Given the description of an element on the screen output the (x, y) to click on. 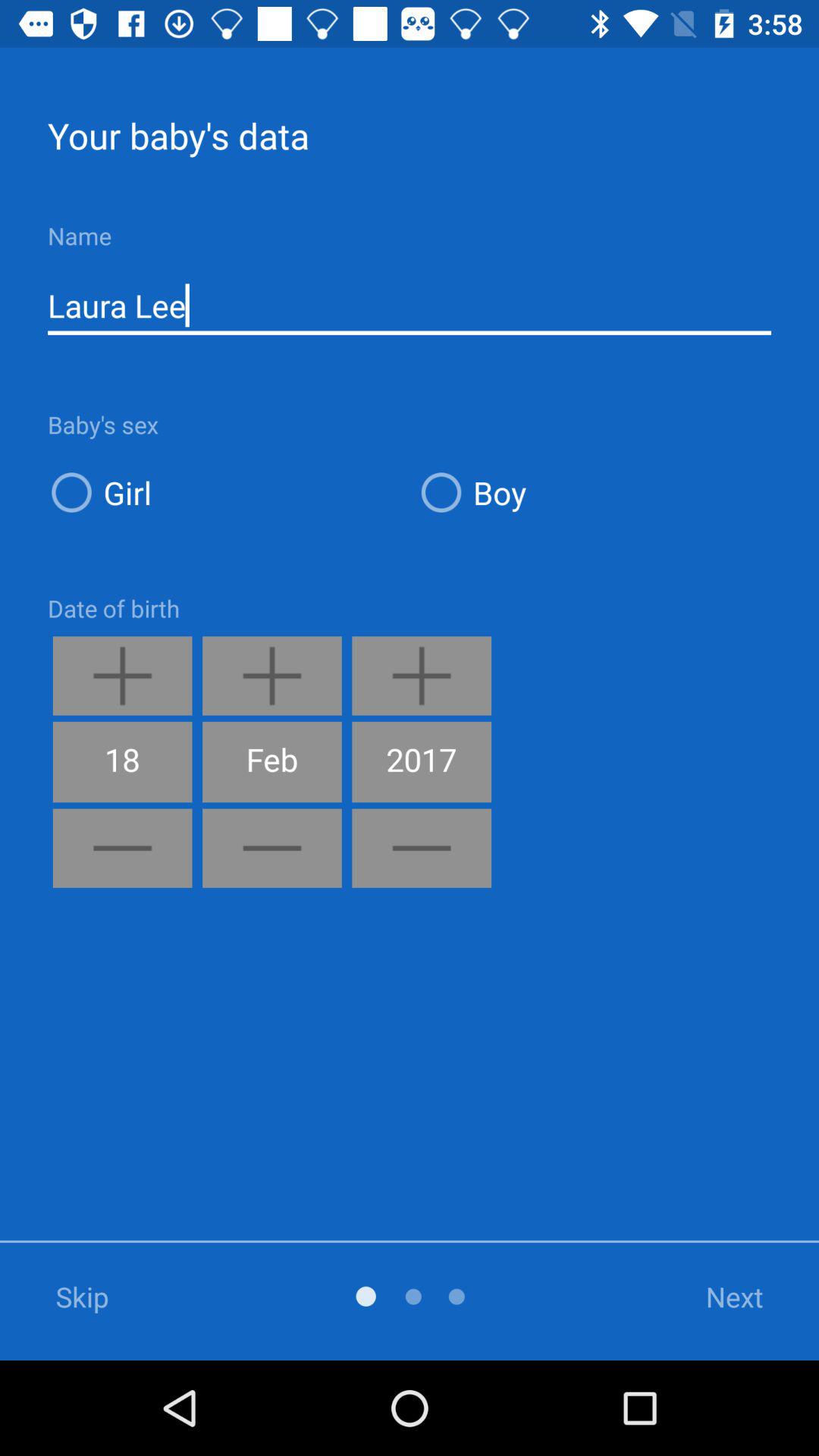
open the 18 icon (122, 761)
